Given the description of an element on the screen output the (x, y) to click on. 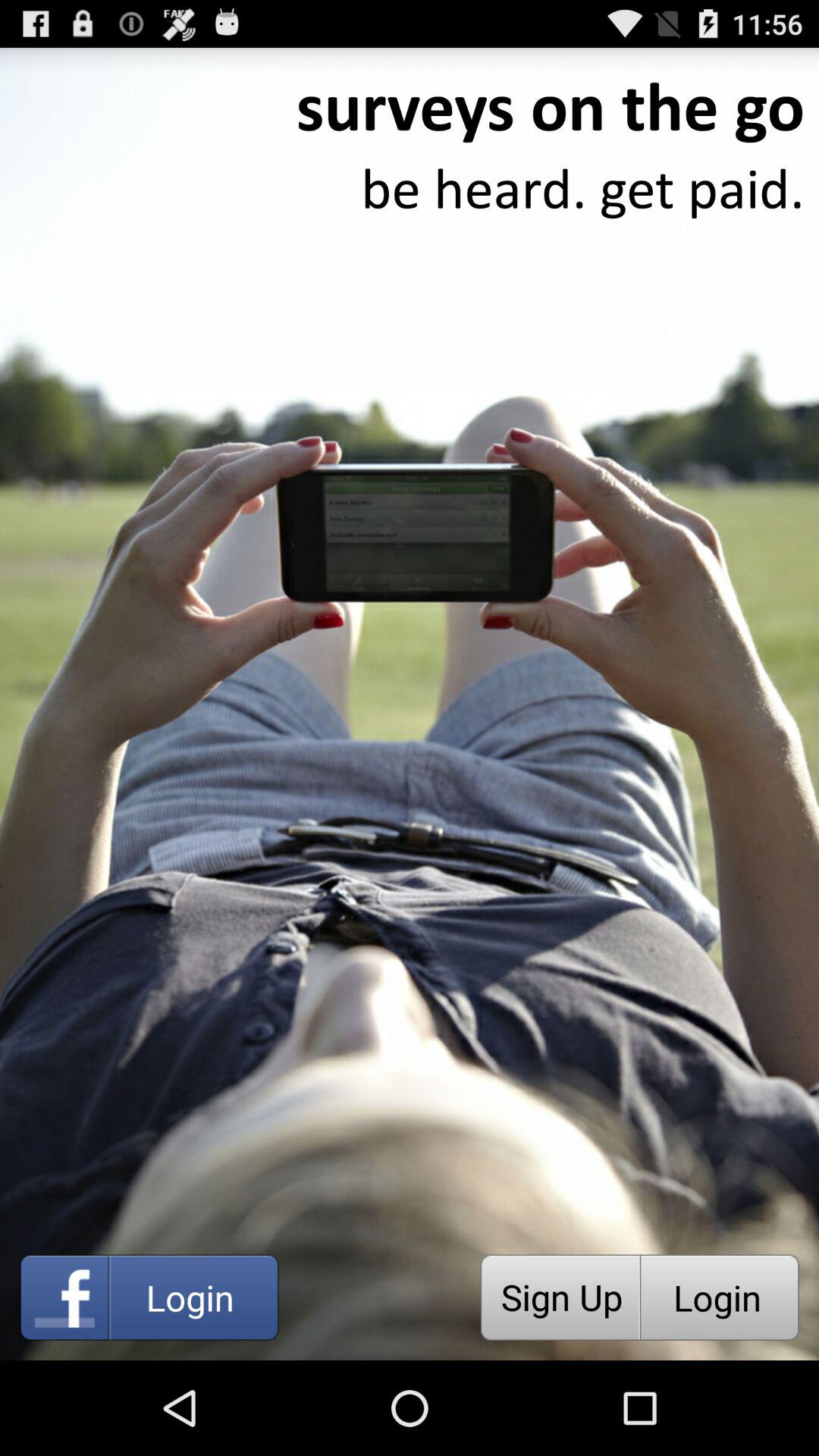
select the icon next to the login item (559, 1297)
